Given the description of an element on the screen output the (x, y) to click on. 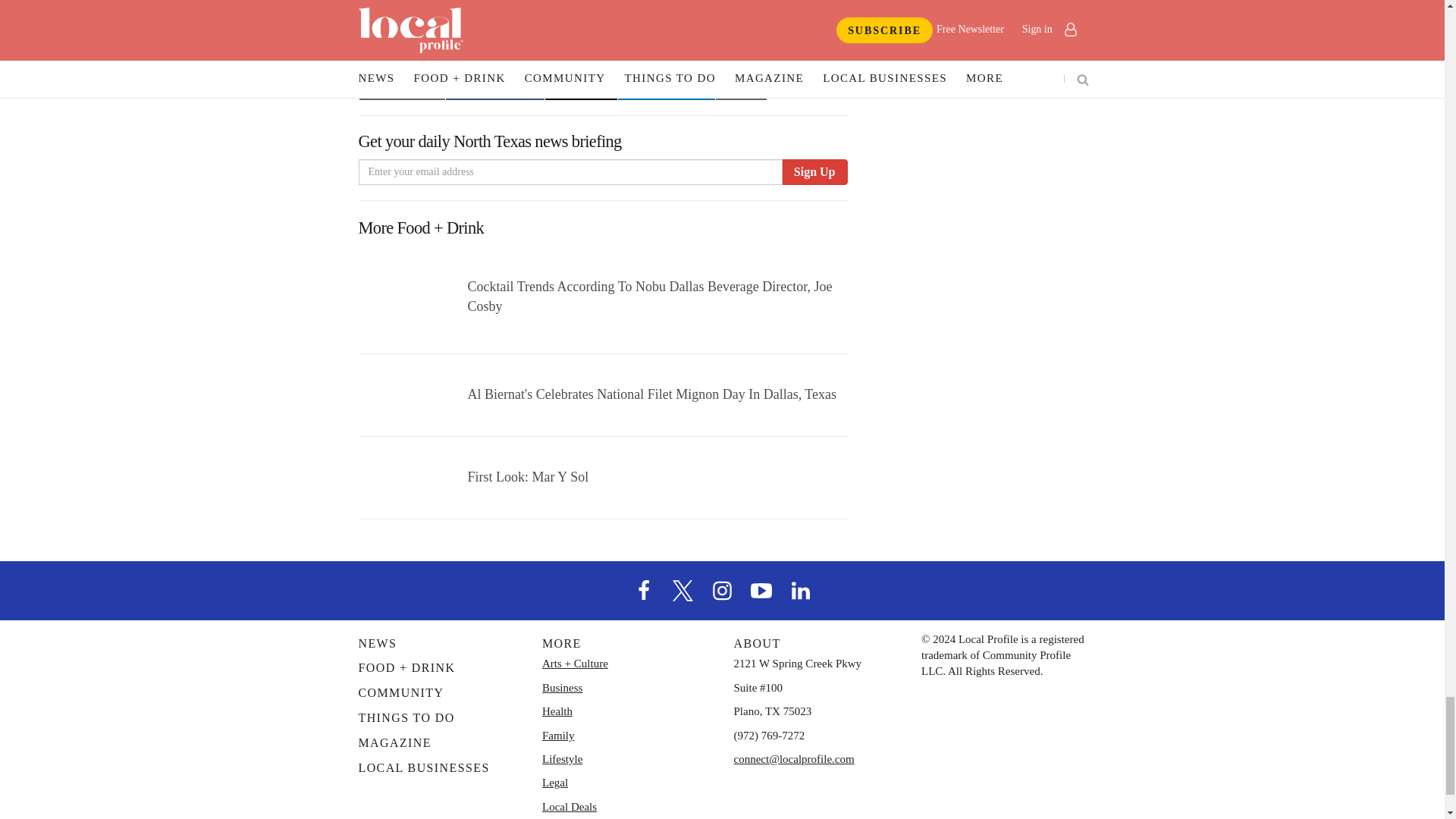
X (683, 558)
LinkedIn (800, 558)
YouTube (760, 558)
Instagram (721, 558)
Facebook (644, 558)
